Given the description of an element on the screen output the (x, y) to click on. 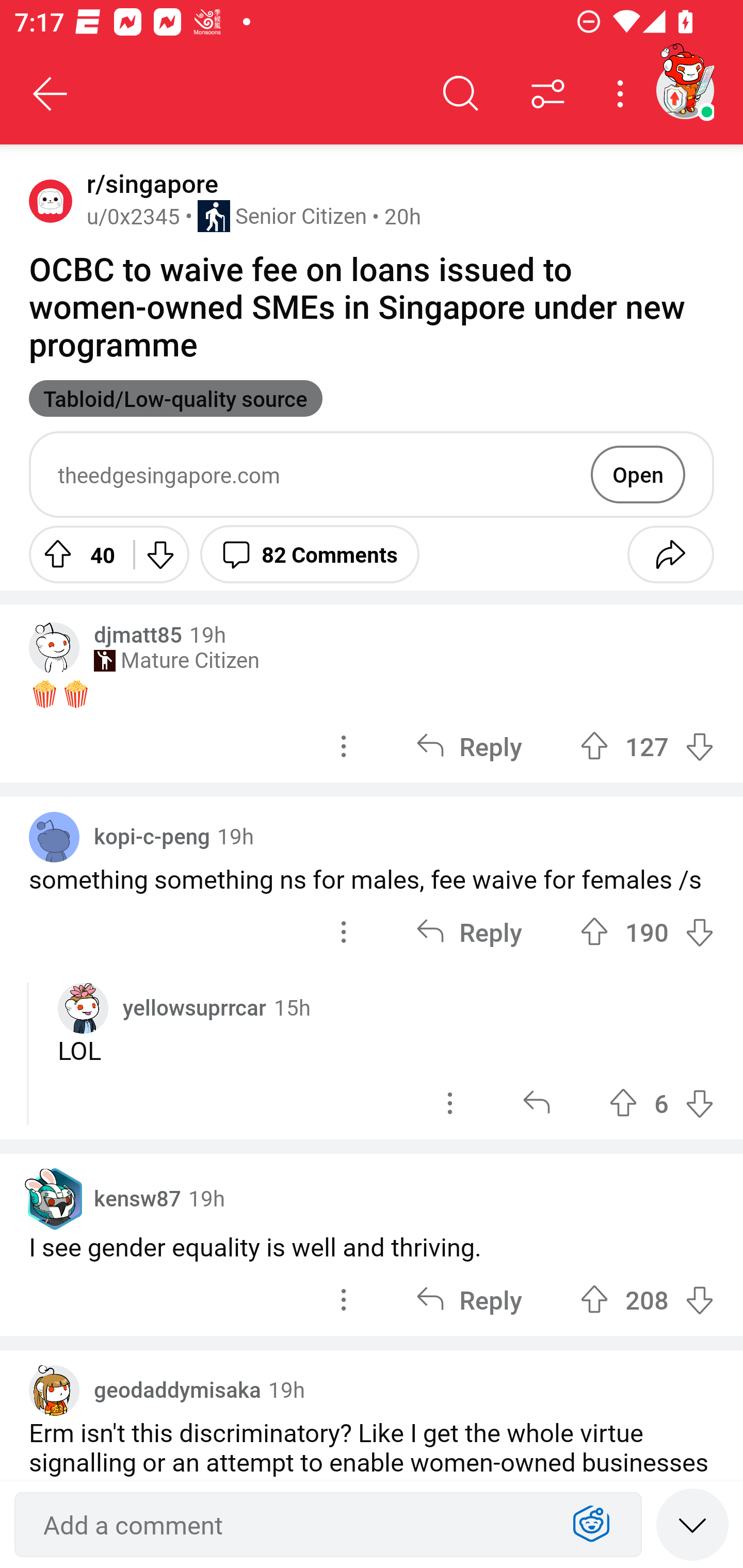
Back (50, 93)
TestAppium002 account (685, 90)
Search comments (460, 93)
Sort comments (547, 93)
More options (623, 93)
r/singapore (148, 183)
Avatar (50, 200)
Tabloid/Low-quality source (175, 398)
theedgesingapore.com Open (371, 474)
Open (637, 474)
Upvote 40 (73, 554)
Downvote (158, 554)
82 Comments (309, 554)
Share (670, 554)
Custom avatar (53, 647)
￼ Mature Citizen (176, 659)
🍿🍿 (371, 692)
options (343, 746)
Reply (469, 746)
Upvote 127 127 votes Downvote (647, 746)
Avatar (53, 837)
options (343, 931)
Reply (469, 931)
Upvote 190 190 votes Downvote (647, 931)
Custom avatar (82, 1008)
LOL (385, 1050)
options (449, 1103)
Upvote 6 6 votes Downvote (661, 1103)
I see gender equality is well and thriving. (371, 1246)
options (343, 1299)
Reply (469, 1299)
Upvote 208 208 votes Downvote (647, 1299)
Custom avatar (53, 1390)
Speed read (692, 1524)
Add a comment (291, 1524)
Show Expressions (590, 1524)
